Given the description of an element on the screen output the (x, y) to click on. 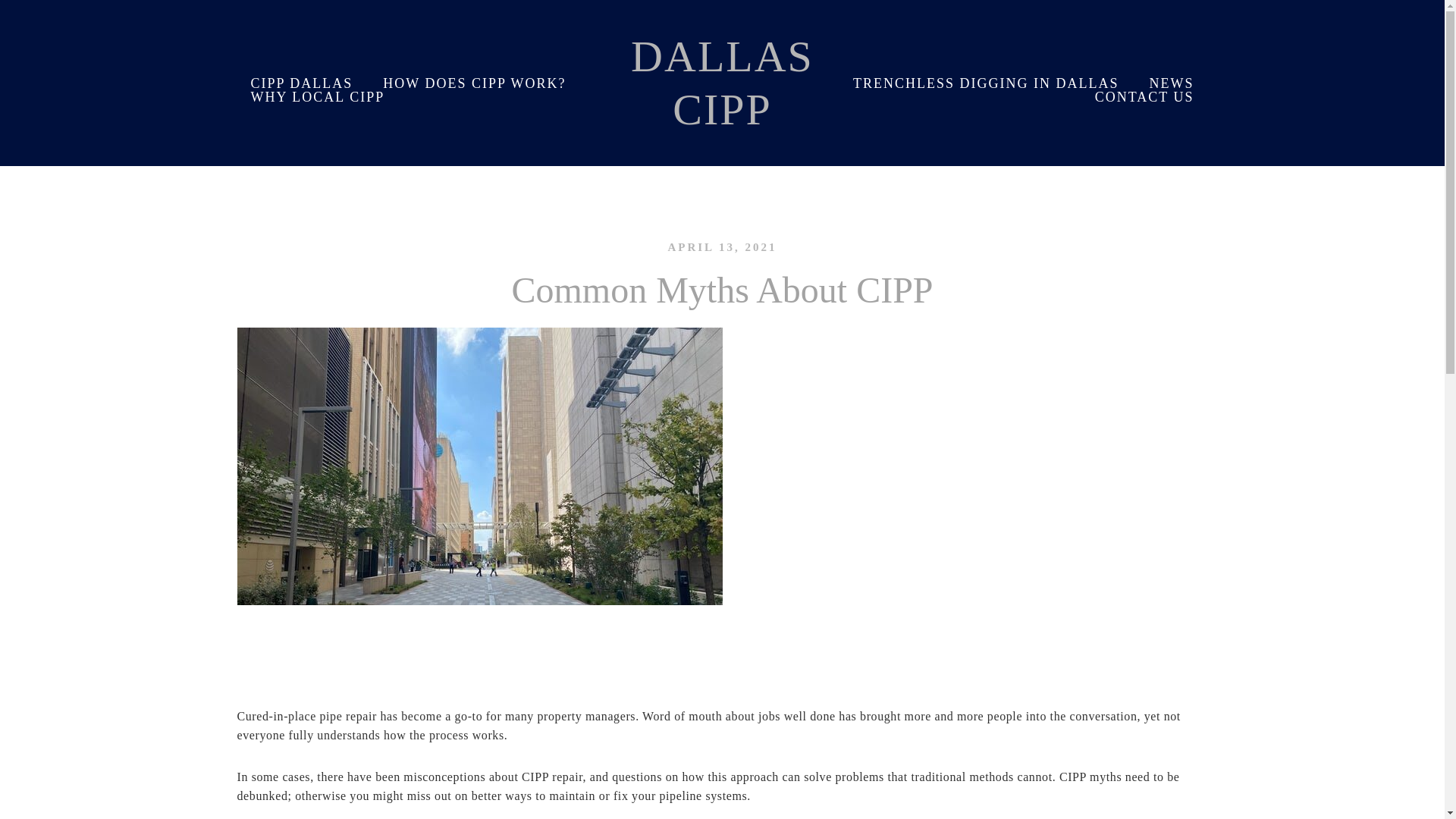
CIPP DALLAS (300, 82)
DALLAS CIPP (721, 82)
NEWS (1171, 82)
CONTACT US (1144, 96)
WHY LOCAL CIPP (316, 96)
HOW DOES CIPP WORK? (474, 82)
TRENCHLESS DIGGING IN DALLAS (986, 82)
